Given the description of an element on the screen output the (x, y) to click on. 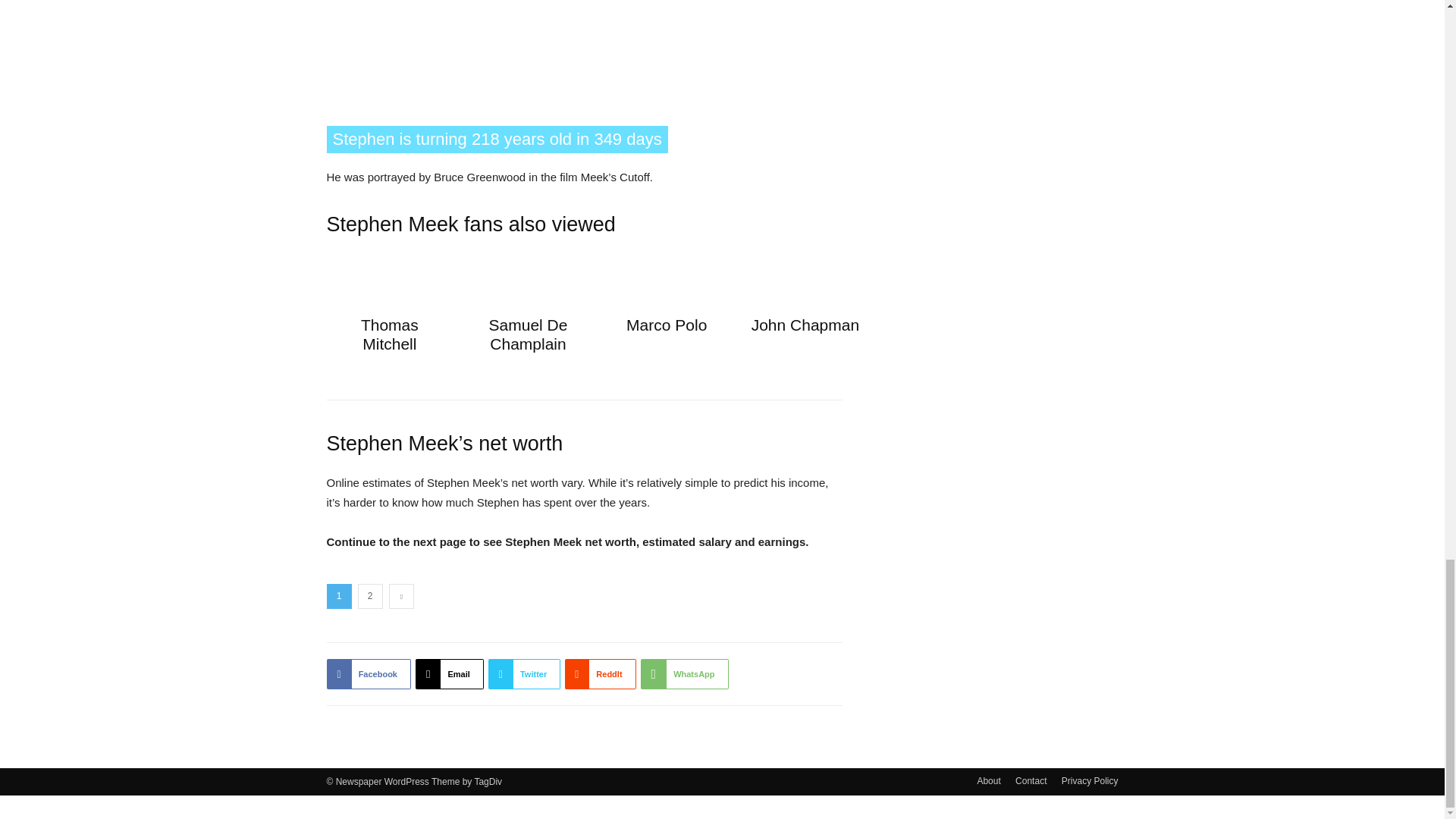
Marco Polo (666, 324)
Contact (1030, 780)
Facebook (368, 674)
ReddIt (599, 674)
2 (370, 596)
trends-widget-1 (583, 48)
John Chapman (805, 324)
Thomas Mitchell (390, 334)
Twitter (523, 674)
WhatsApp (684, 674)
About (988, 780)
Email (448, 674)
Samuel De Champlain (528, 334)
Privacy Policy (1089, 780)
